Given the description of an element on the screen output the (x, y) to click on. 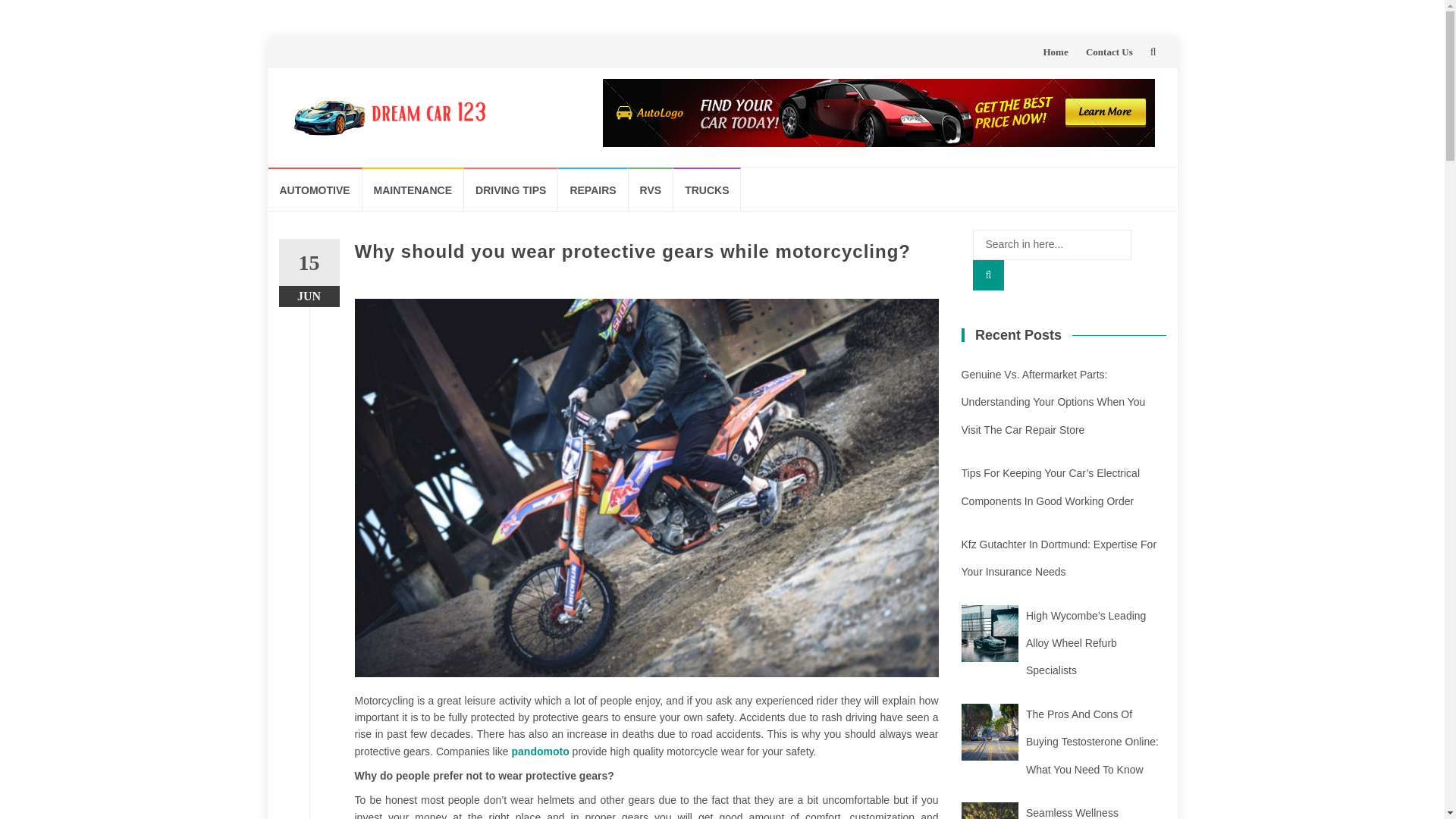
MAINTENANCE (413, 188)
AUTOMOTIVE (314, 188)
REPAIRS (592, 188)
RVS (651, 188)
pandomoto (540, 751)
Contact Us (1109, 51)
